Given the description of an element on the screen output the (x, y) to click on. 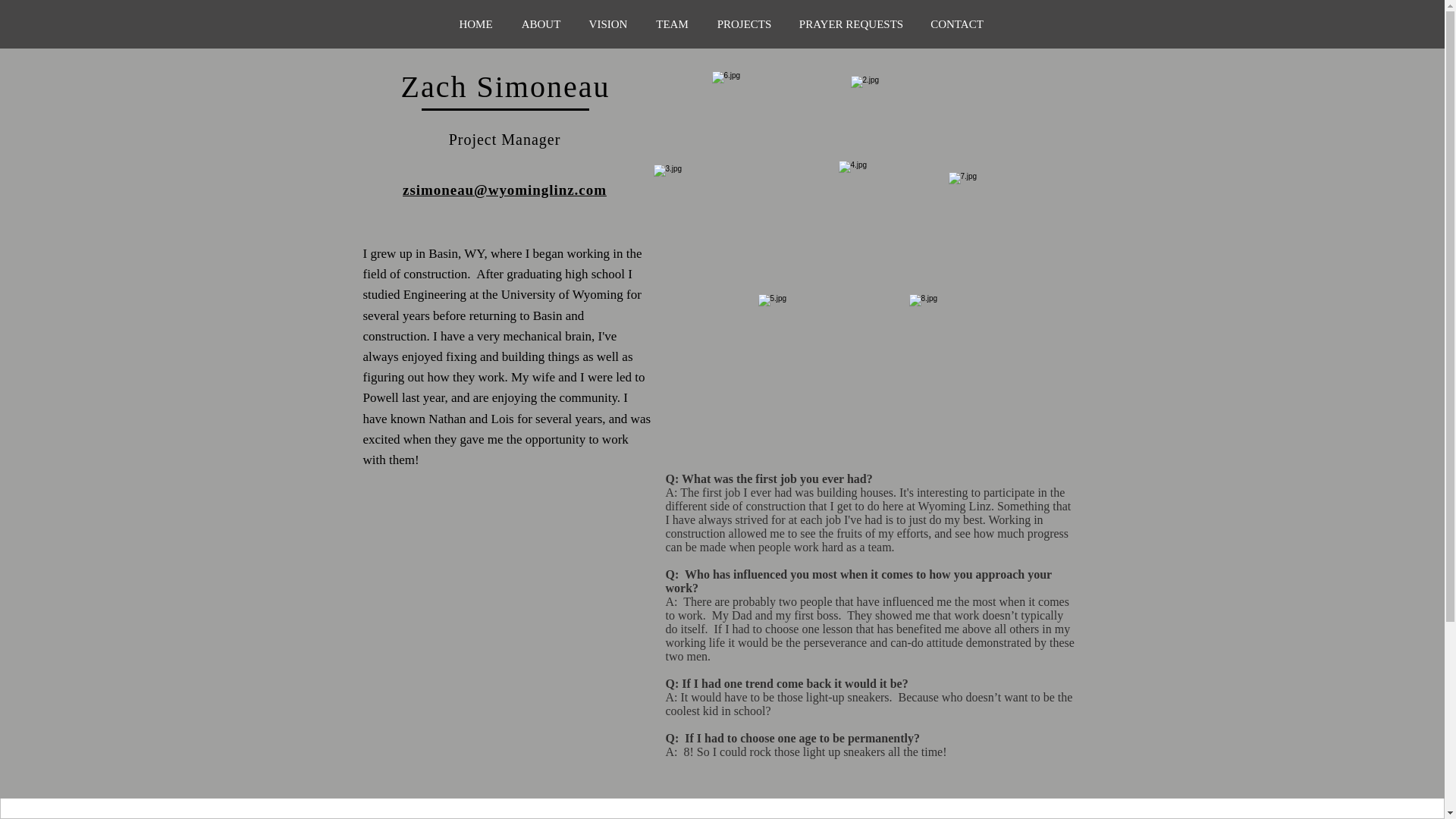
PROJECTS (743, 24)
ABOUT (541, 24)
CONTACT (956, 24)
TEAM (671, 24)
HOME (476, 24)
PRAYER REQUESTS (850, 24)
VISION (608, 24)
